Given the description of an element on the screen output the (x, y) to click on. 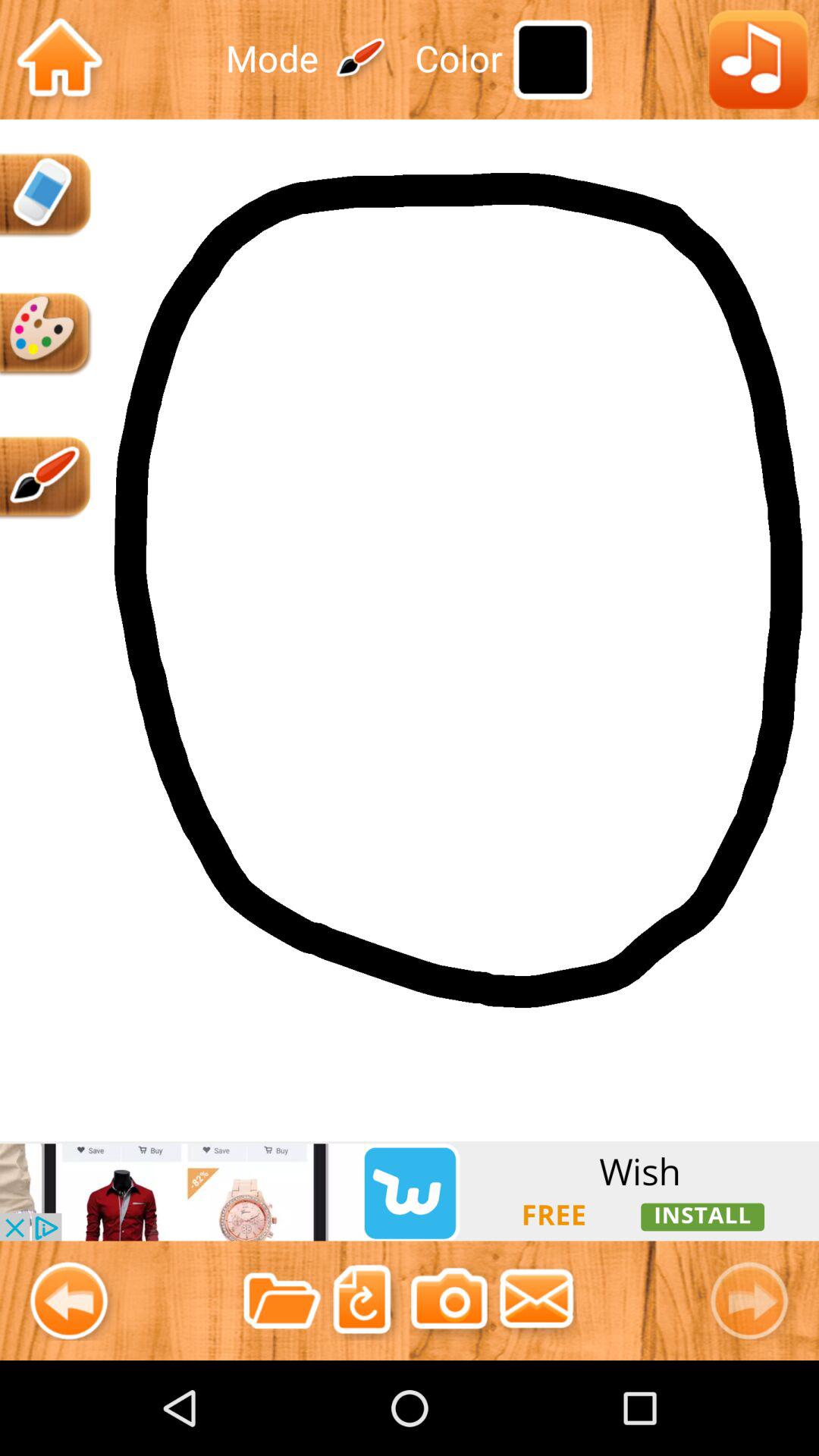
email check option (536, 1300)
